Given the description of an element on the screen output the (x, y) to click on. 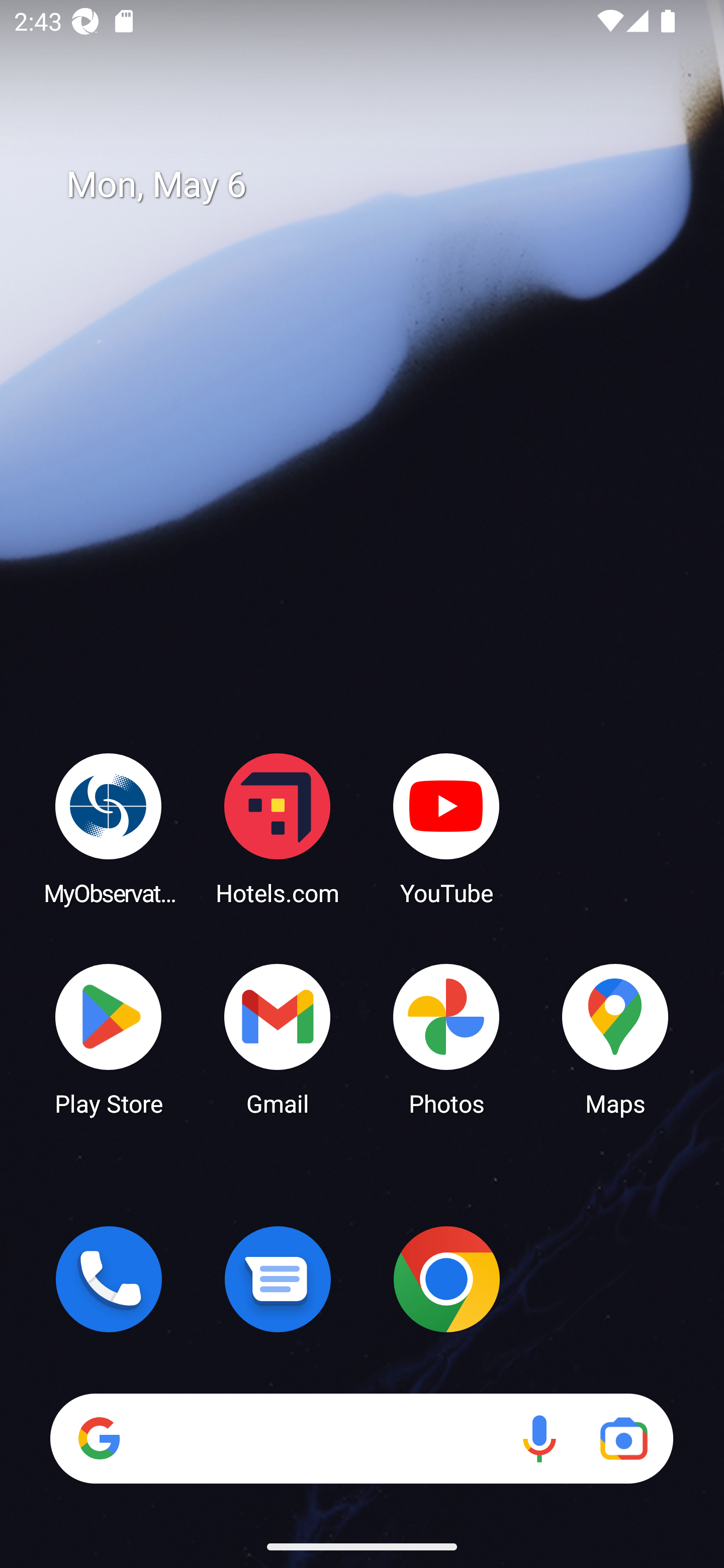
Mon, May 6 (375, 184)
MyObservatory (108, 828)
Hotels.com (277, 828)
YouTube (445, 828)
Play Store (108, 1038)
Gmail (277, 1038)
Photos (445, 1038)
Maps (615, 1038)
Phone (108, 1279)
Messages (277, 1279)
Chrome (446, 1279)
Search Voice search Google Lens (361, 1438)
Voice search (539, 1438)
Google Lens (623, 1438)
